Given the description of an element on the screen output the (x, y) to click on. 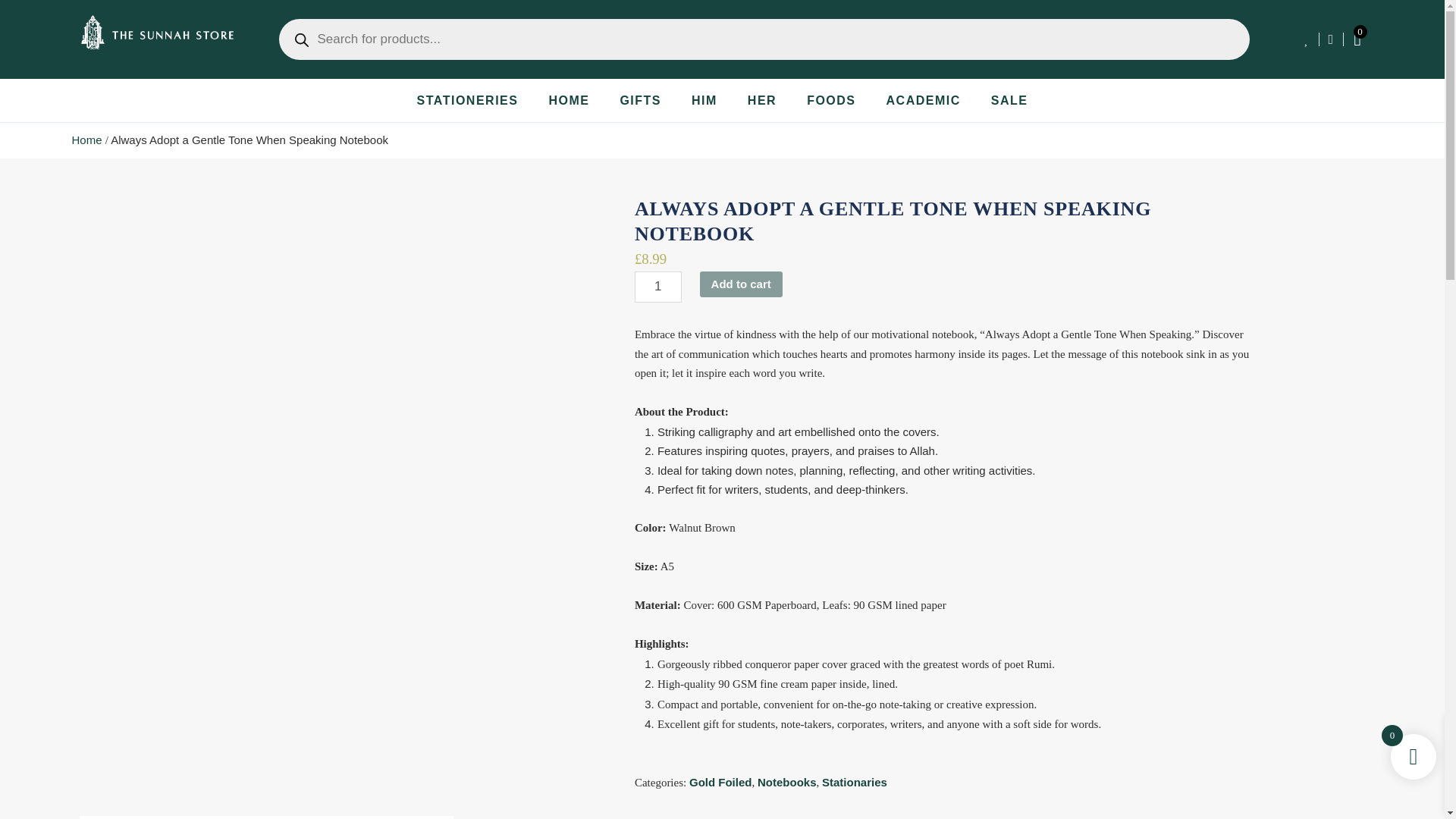
HOME (568, 100)
STATIONERIES (467, 100)
The Sunnah Store (86, 139)
1 (657, 286)
